Given the description of an element on the screen output the (x, y) to click on. 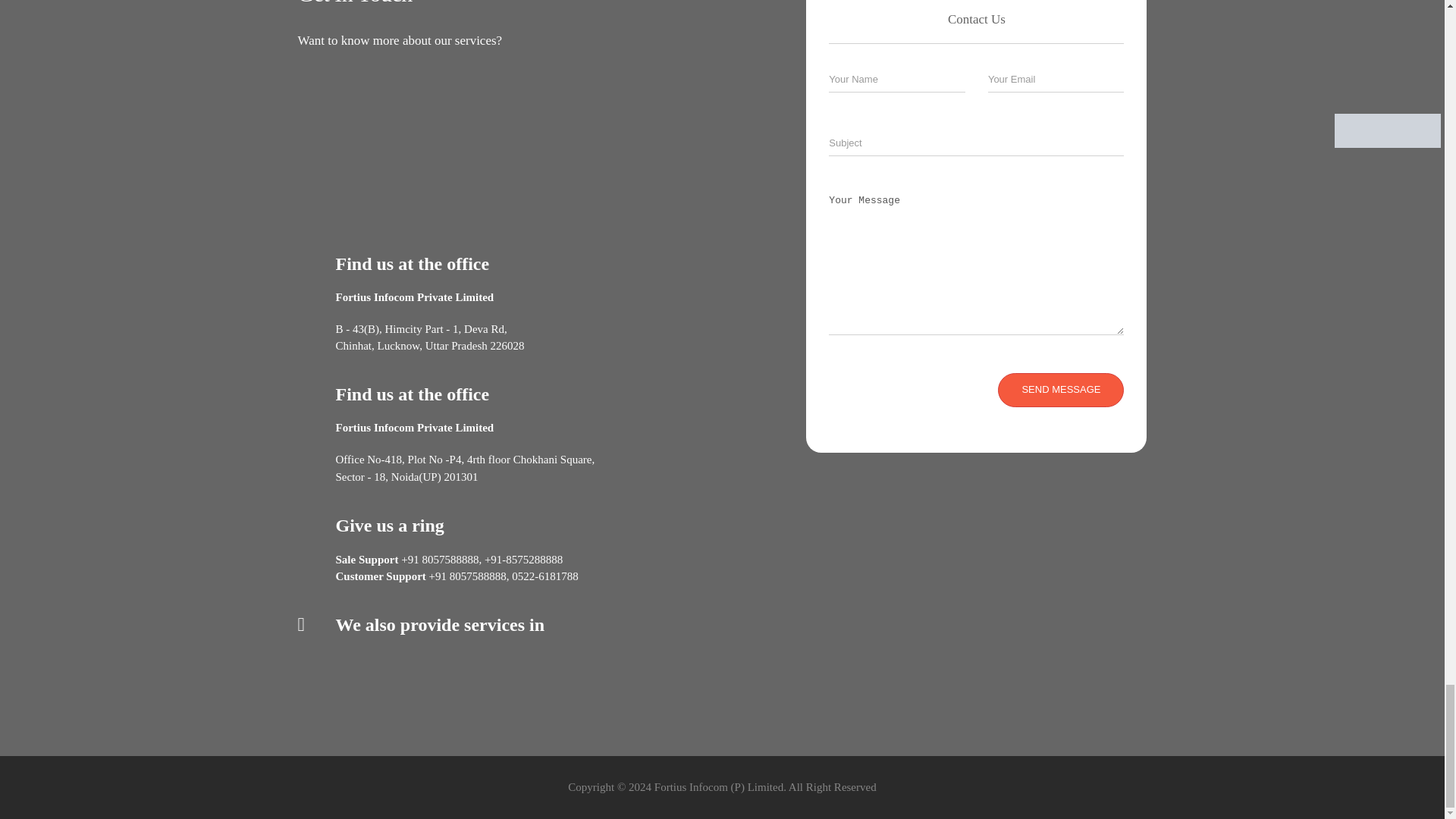
Send Message (1060, 390)
